Given the description of an element on the screen output the (x, y) to click on. 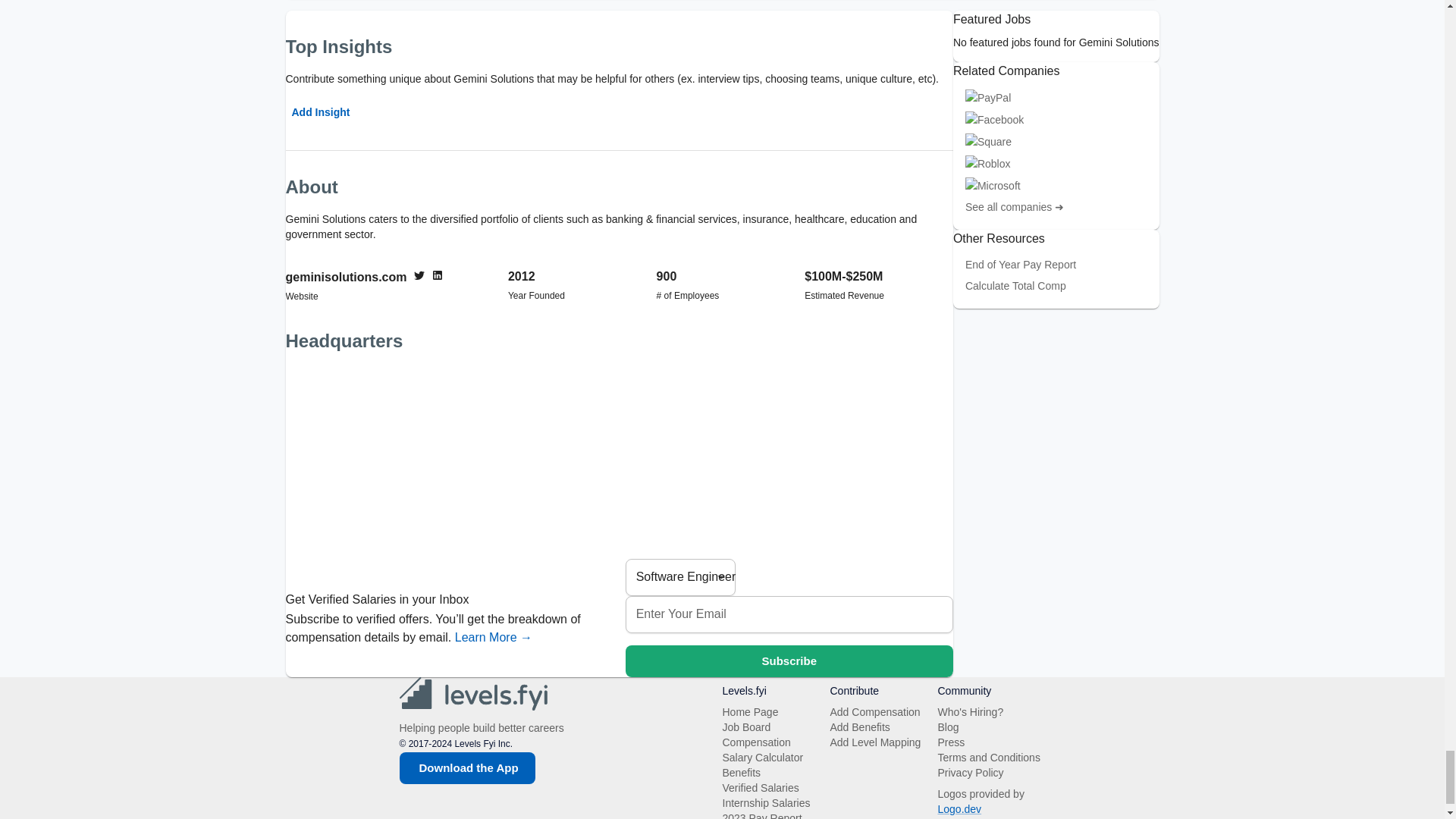
Company Address (618, 460)
